Given the description of an element on the screen output the (x, y) to click on. 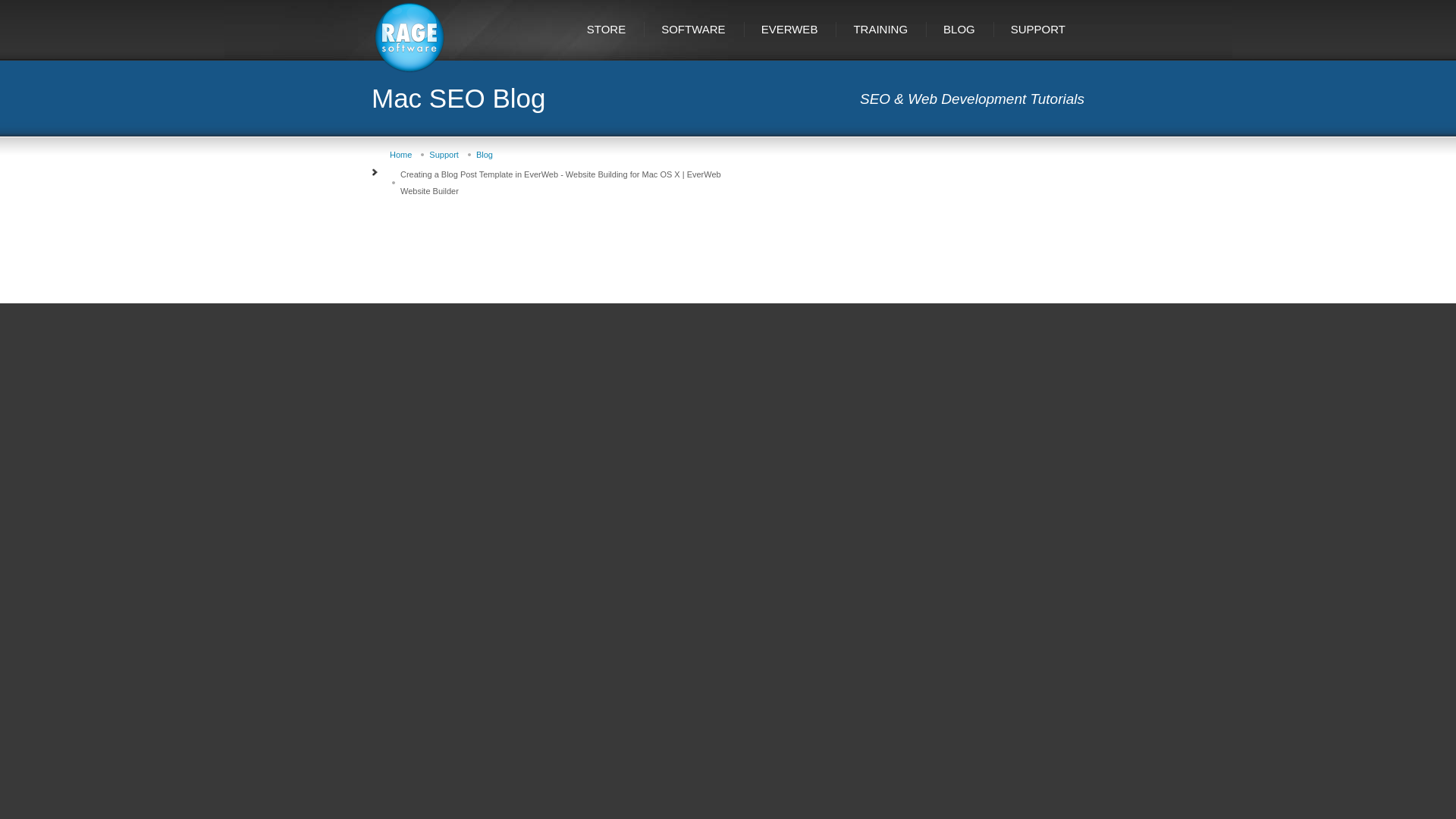
Support (443, 153)
STORE (607, 28)
Home (401, 153)
SUPPORT (1039, 28)
EVERWEB (790, 28)
TRAINING (880, 28)
Blog (484, 153)
SOFTWARE (694, 28)
BLOG (960, 28)
